Given the description of an element on the screen output the (x, y) to click on. 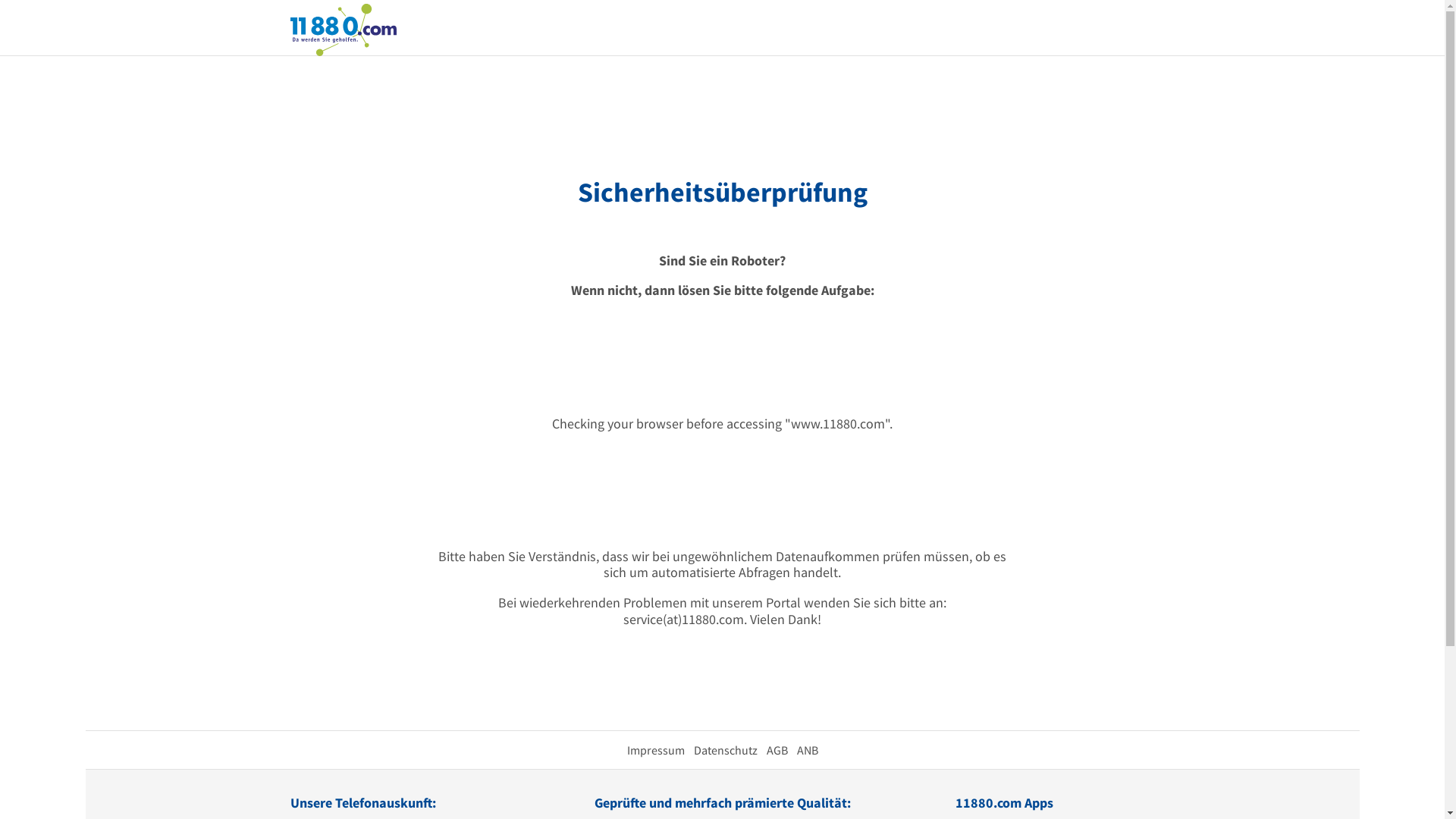
11880.com Element type: hover (342, 28)
ANB Element type: text (806, 749)
Datenschutz Element type: text (724, 749)
Impressum Element type: text (655, 749)
AGB Element type: text (776, 749)
